Given the description of an element on the screen output the (x, y) to click on. 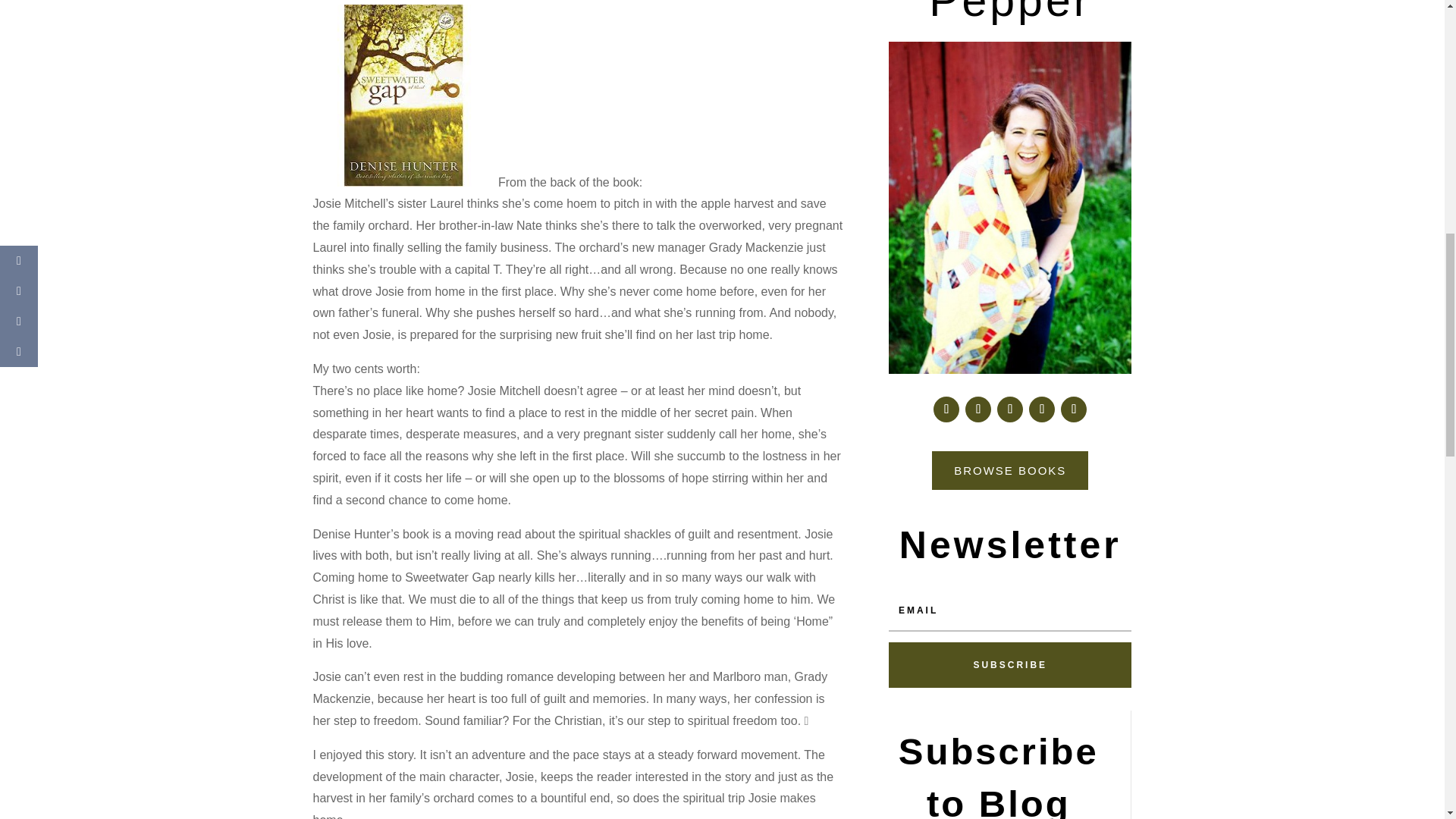
Follow on X (978, 409)
Follow on Facebook (946, 409)
Follow on Instagram (1010, 409)
BROWSE BOOKS (1009, 470)
SUBSCRIBE (1009, 664)
